Given the description of an element on the screen output the (x, y) to click on. 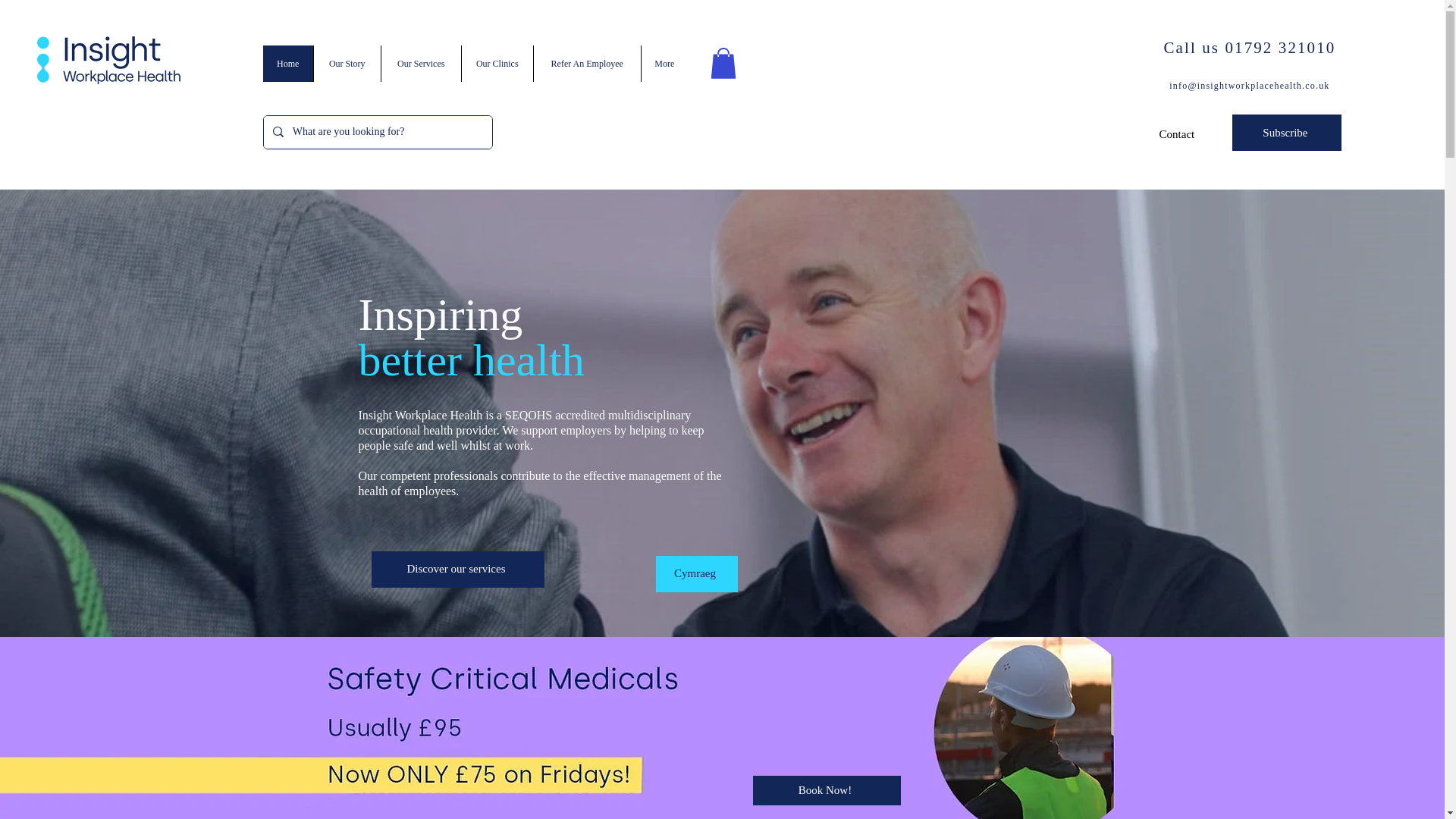
Home (288, 63)
Our Clinics (496, 63)
Our Story (346, 63)
Refer An Employee (586, 63)
Our Services (420, 63)
